Given the description of an element on the screen output the (x, y) to click on. 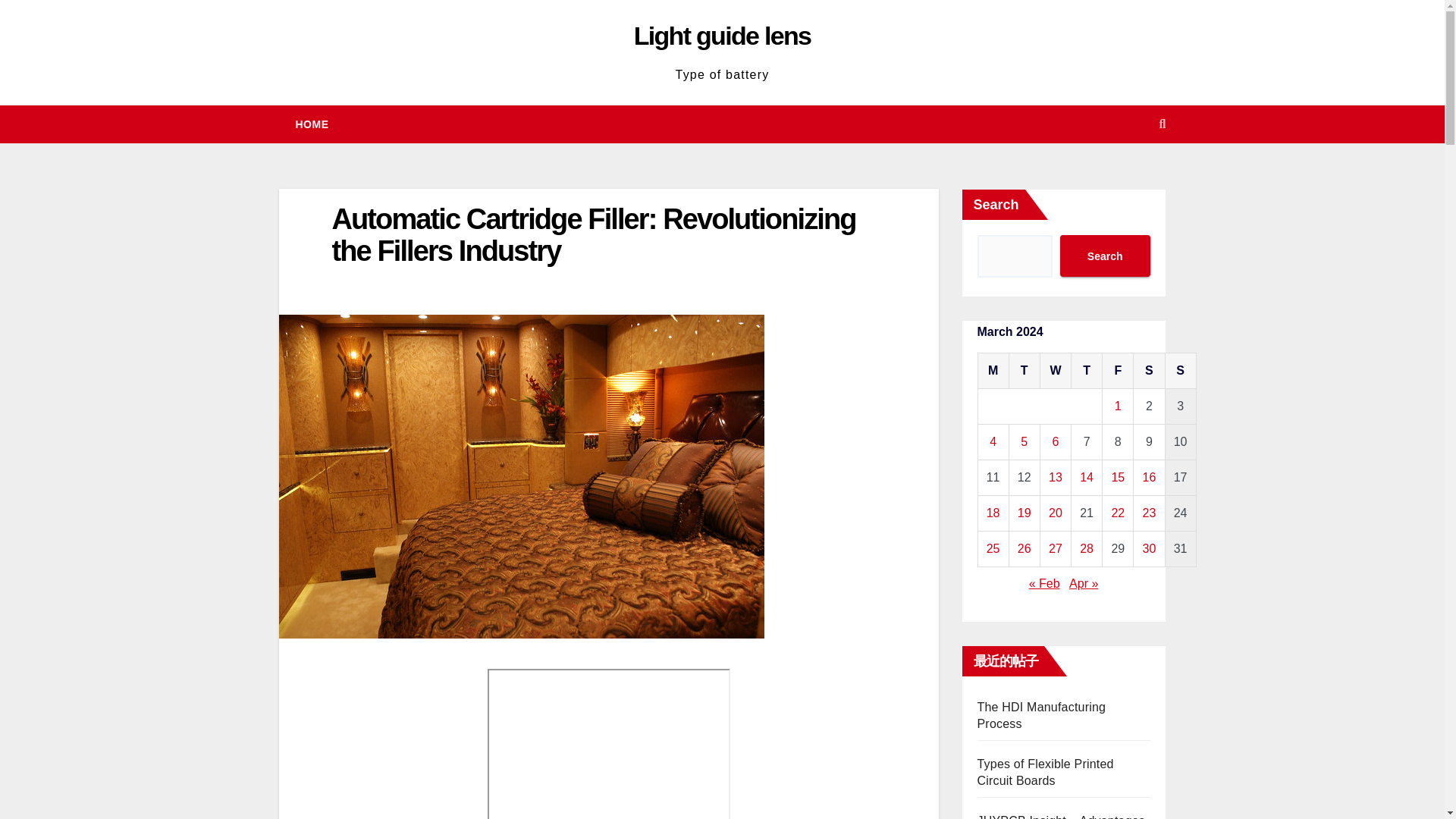
13 (1055, 477)
Home (312, 124)
Search (1104, 255)
Light guide lens (721, 35)
HOME (312, 124)
